Given the description of an element on the screen output the (x, y) to click on. 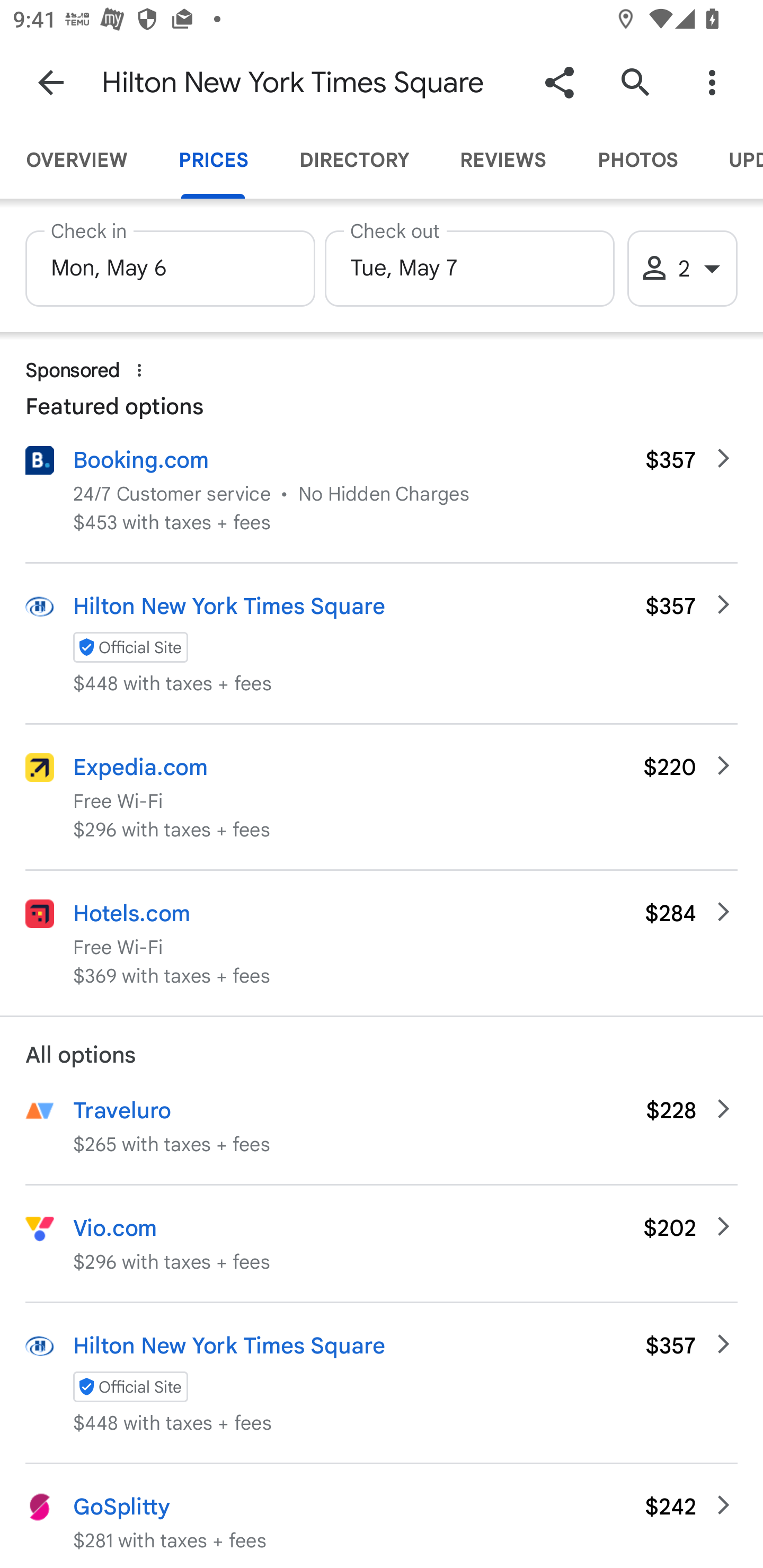
Back to Search (50, 81)
Share (559, 81)
Search (635, 81)
More options for Hilton New York Times Square (711, 81)
OVERVIEW Overview (76, 160)
DIRECTORY Directory (353, 160)
REVIEWS Reviews (502, 160)
PHOTOS Photos (637, 160)
Mon, May 6 Check in date Mon, May 6 Check in (170, 263)
Tue, May 7 Check out date Tue, May 7 Check out (469, 263)
Tap to select number of guests. Selected 2 2 (682, 268)
About this ad (139, 369)
Expedia.com $220 Free Wi-Fi $296 with taxes + fees (381, 796)
Hotels.com $284 Free Wi-Fi $369 with taxes + fees (381, 943)
Traveluro $228 $265 with taxes + fees (381, 1137)
Vio.com $202 $296 with taxes + fees (381, 1243)
GoSplitty $242 $281 with taxes + fees (381, 1516)
